Given the description of an element on the screen output the (x, y) to click on. 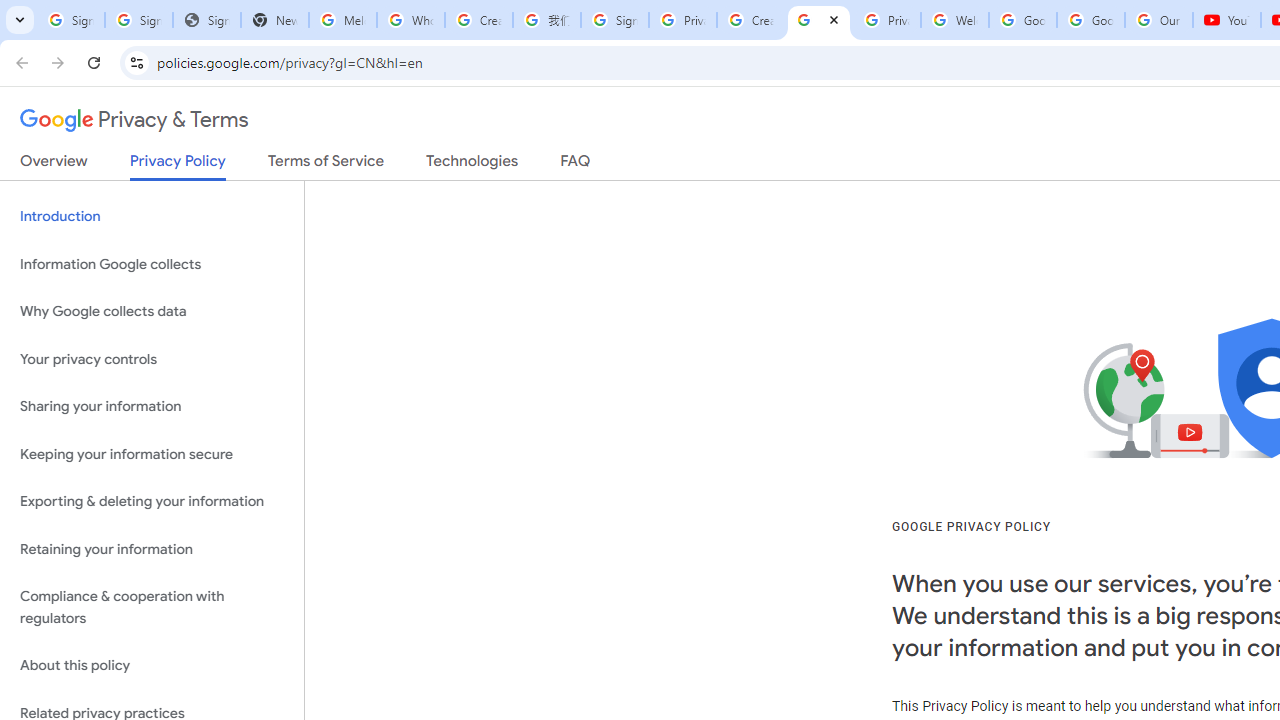
Sign in - Google Accounts (138, 20)
Create your Google Account (750, 20)
Create your Google Account (479, 20)
Sign In - USA TODAY (206, 20)
Exporting & deleting your information (152, 502)
Welcome to My Activity (954, 20)
